Given the description of an element on the screen output the (x, y) to click on. 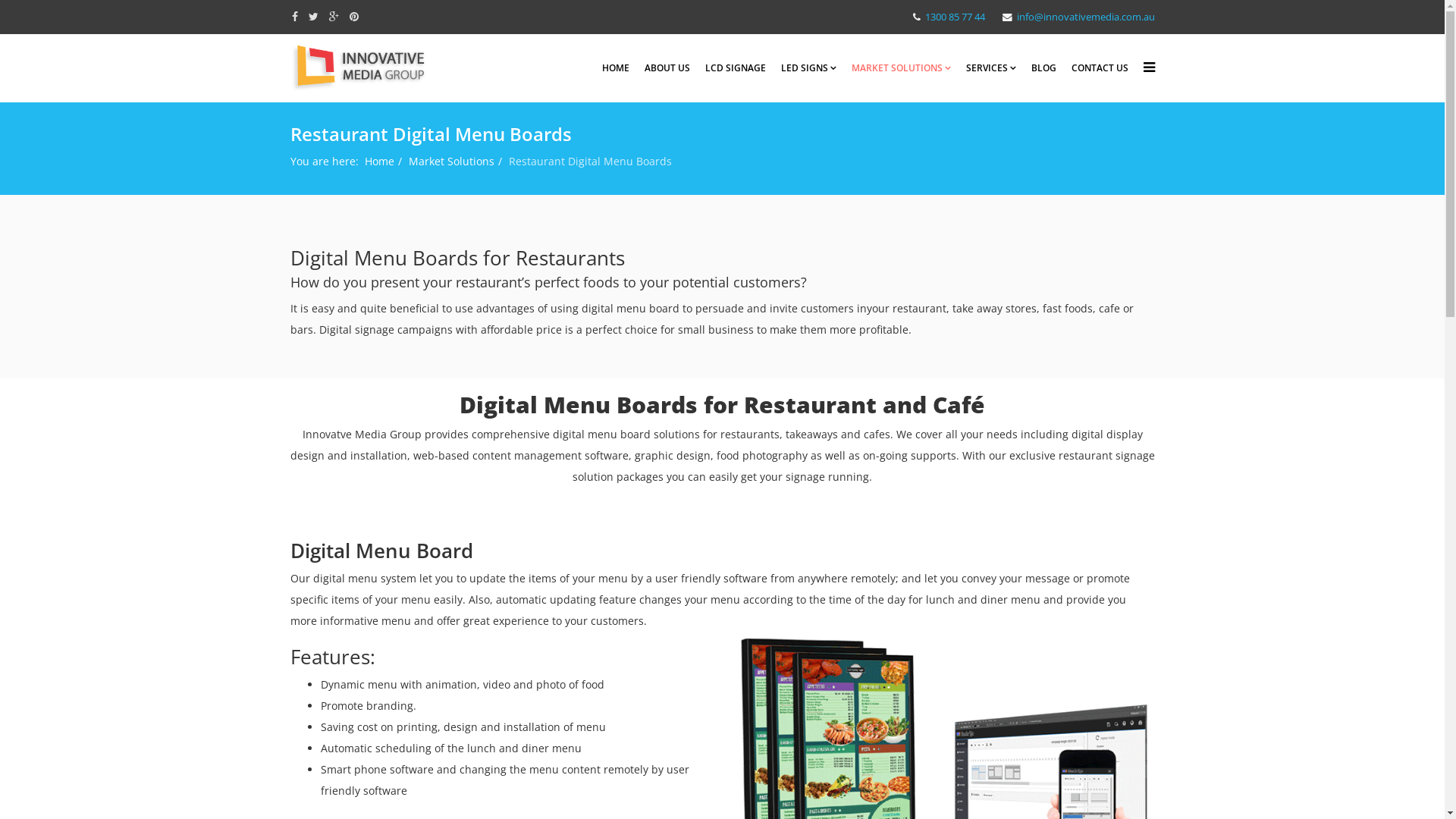
HOME Element type: text (615, 68)
LED SIGNS Element type: text (808, 68)
Home Element type: text (378, 160)
MARKET SOLUTIONS Element type: text (900, 68)
BLOG Element type: text (1043, 68)
1300 85 77 44 Element type: text (955, 16)
CONTACT US Element type: text (1099, 68)
SERVICES Element type: text (990, 68)
Market Solutions Element type: text (450, 160)
LCD SIGNAGE Element type: text (735, 68)
ABOUT US Element type: text (667, 68)
